Given the description of an element on the screen output the (x, y) to click on. 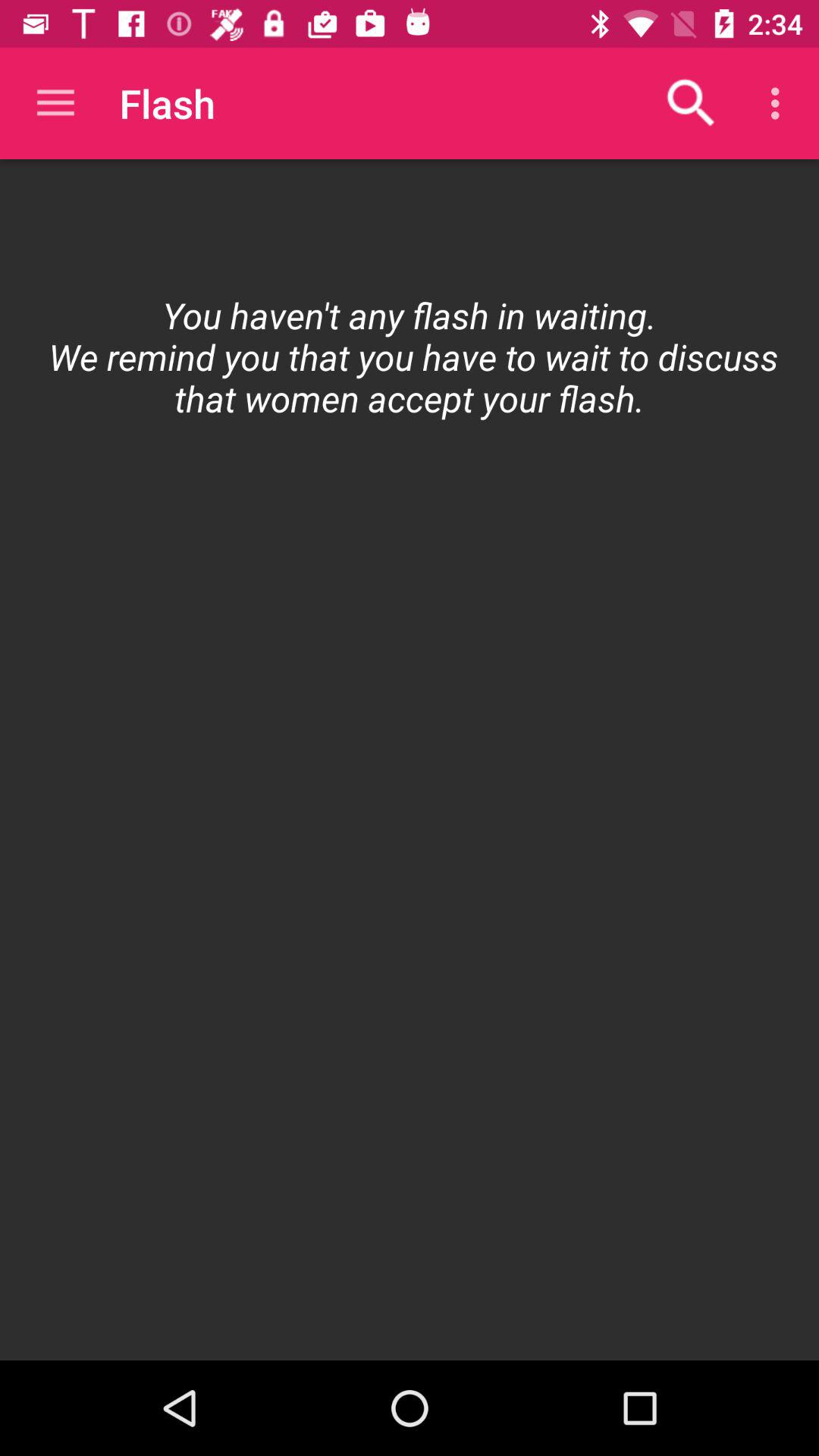
open the icon to the right of the flash item (691, 103)
